Given the description of an element on the screen output the (x, y) to click on. 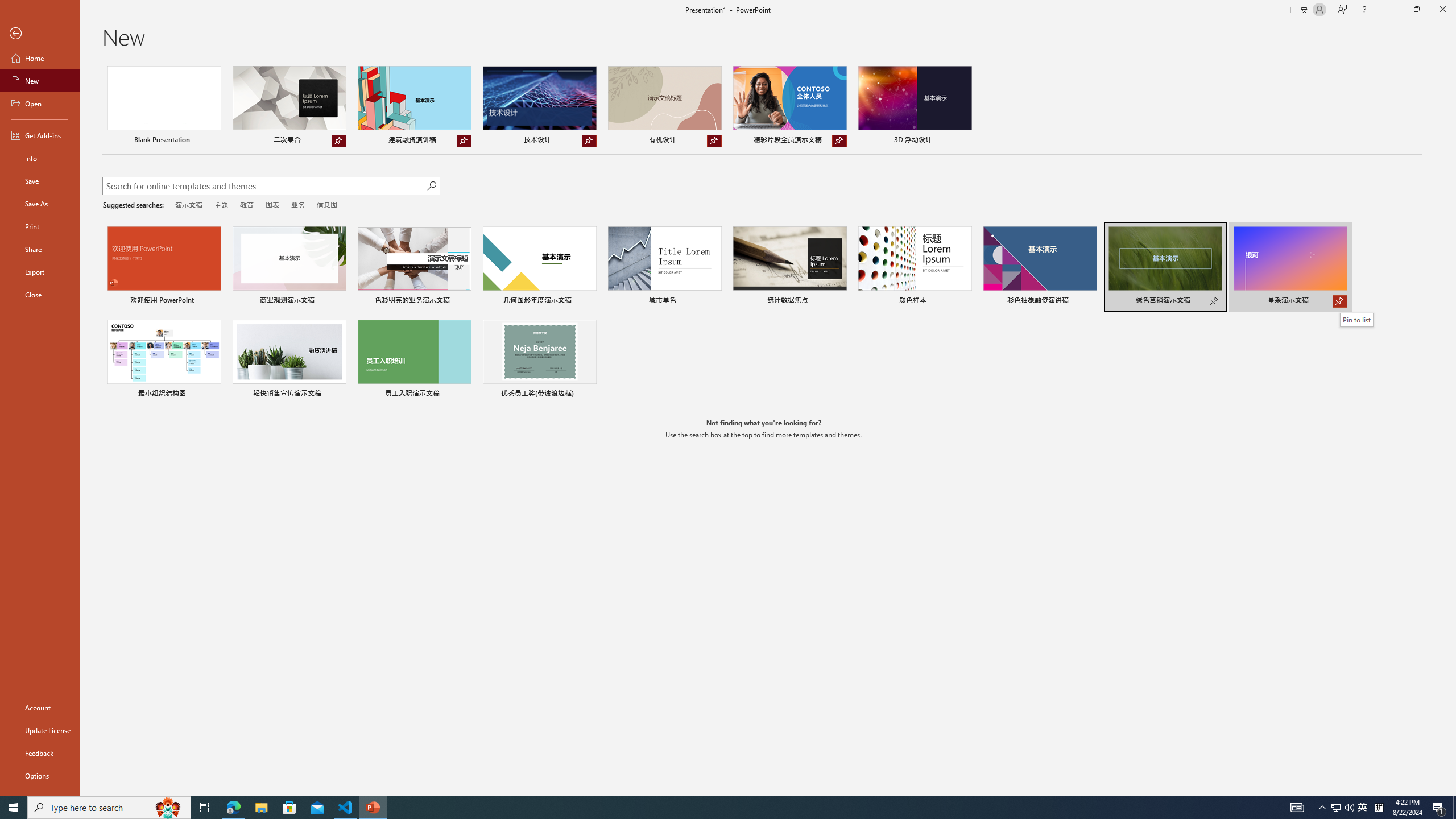
Start searching (431, 185)
Pin to list (589, 394)
Info (40, 157)
Feedback (40, 753)
Update License (40, 730)
